Given the description of an element on the screen output the (x, y) to click on. 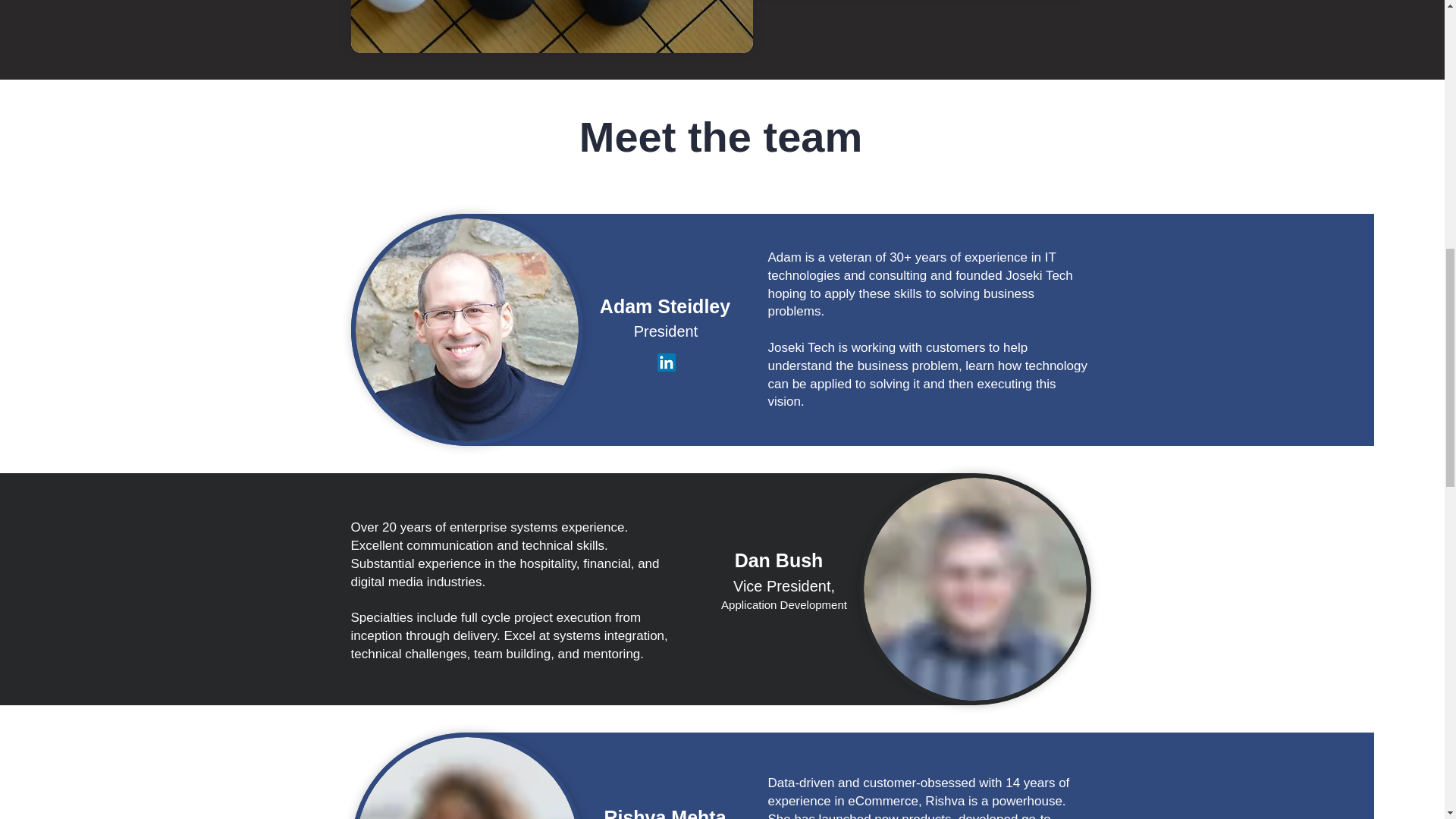
President (665, 330)
Rishva Mehta (664, 804)
Adam Steidley (664, 305)
